Given the description of an element on the screen output the (x, y) to click on. 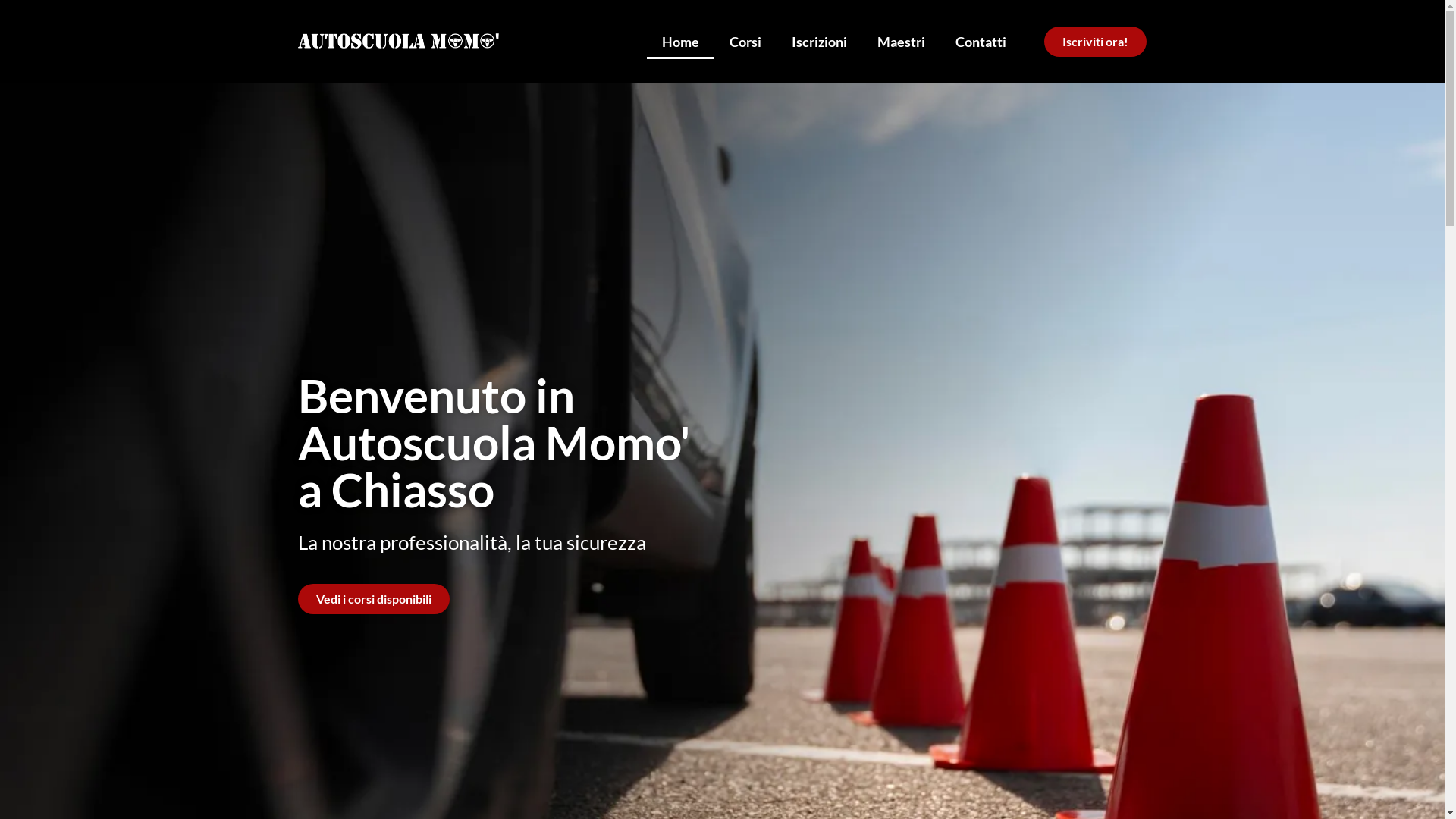
Vedi i corsi disponibili Element type: text (372, 598)
Maestri Element type: text (901, 41)
Corsi Element type: text (745, 41)
Home Element type: text (680, 41)
Iscriviti ora! Element type: text (1095, 41)
Iscrizioni Element type: text (819, 41)
Contatti Element type: text (980, 41)
